Given the description of an element on the screen output the (x, y) to click on. 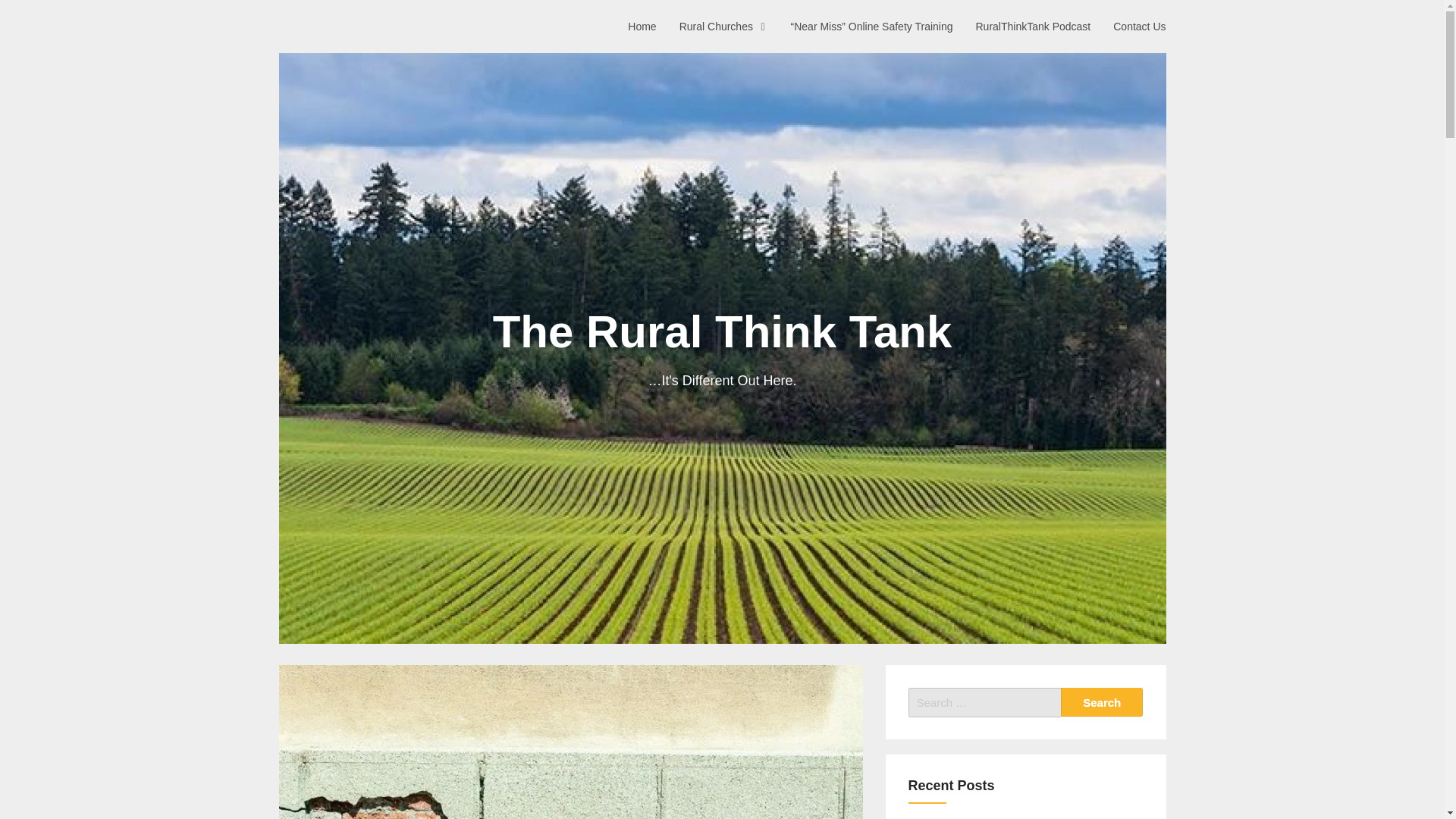
Contact Us (1139, 26)
Search (1101, 702)
RuralThinkTank Podcast (1032, 26)
Home (640, 26)
Rural Churches (723, 26)
Search (1101, 702)
Search (1101, 702)
